Given the description of an element on the screen output the (x, y) to click on. 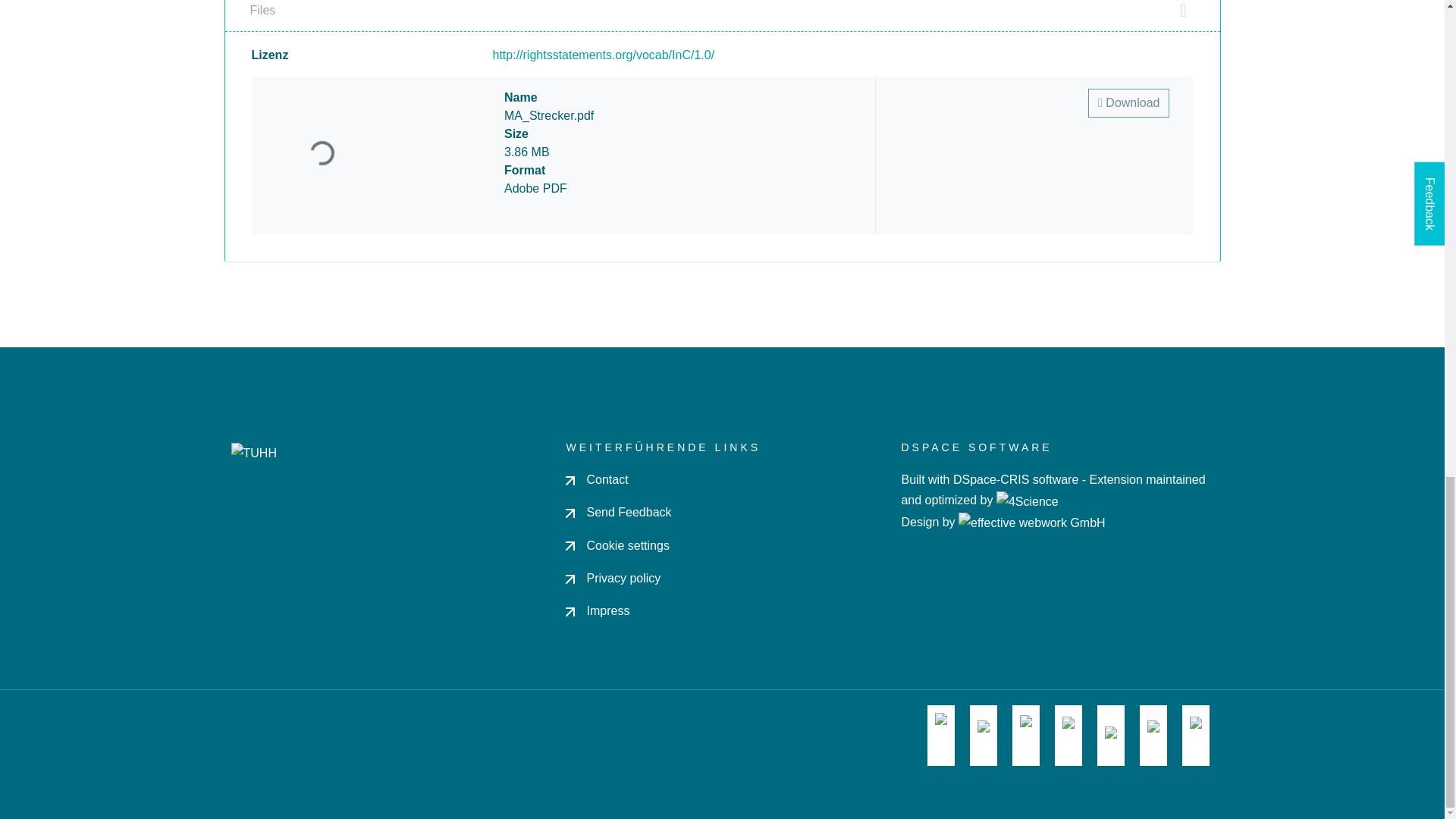
effective webwork GmbH Hamburg (1031, 521)
Close section (1183, 10)
